Given the description of an element on the screen output the (x, y) to click on. 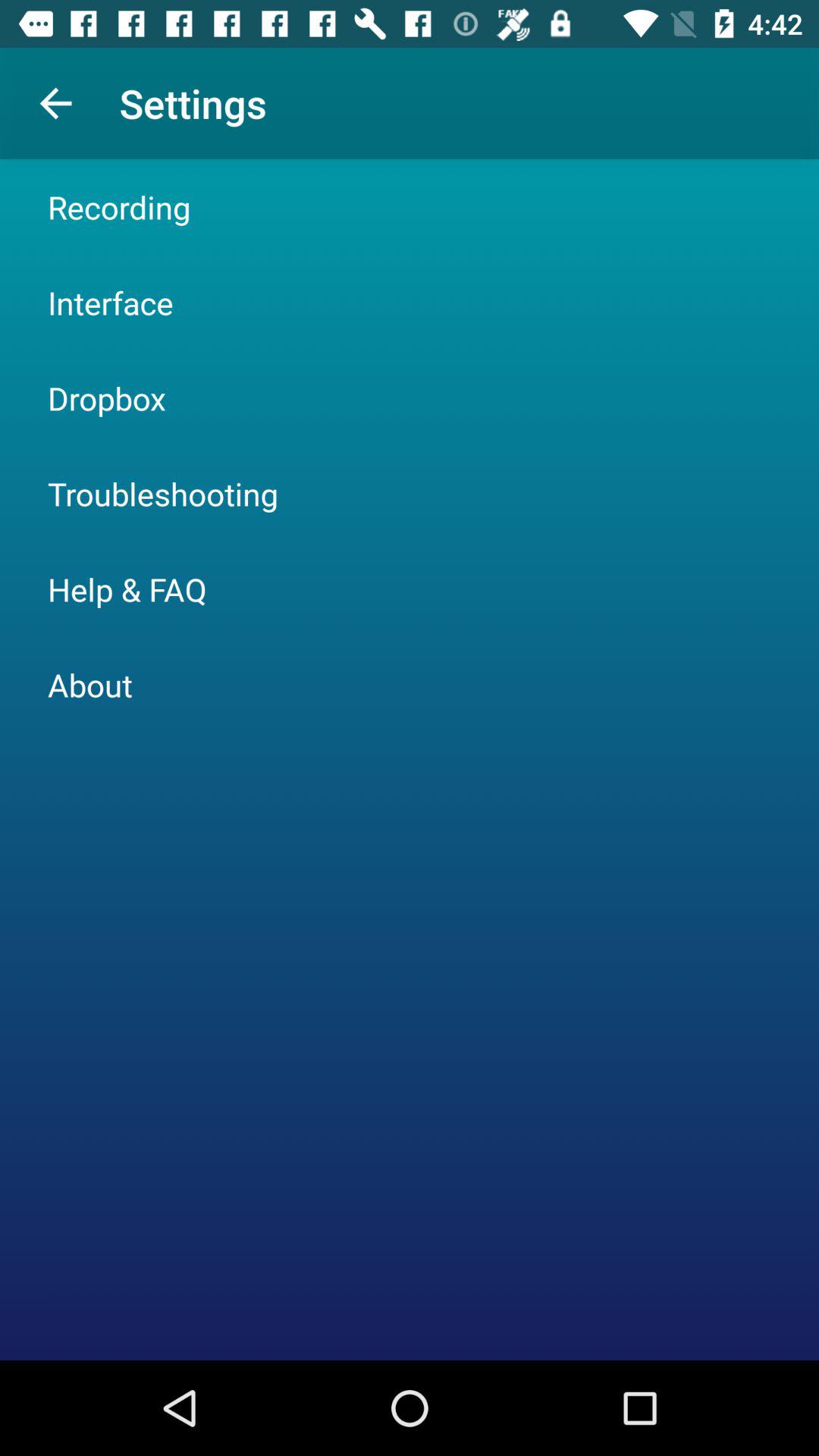
open the dropbox item (106, 397)
